Given the description of an element on the screen output the (x, y) to click on. 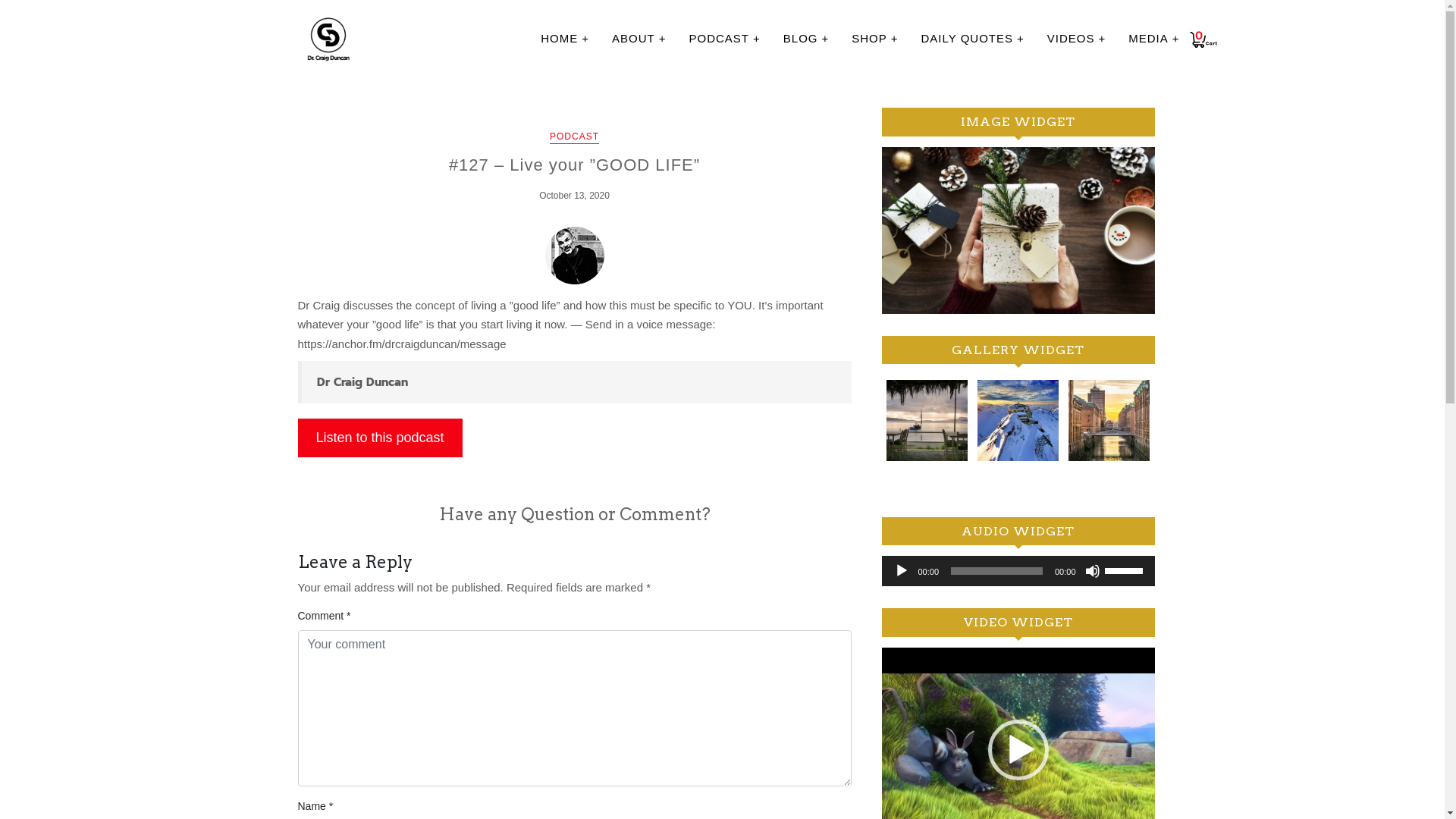
ABOUT Element type: text (638, 38)
Use Up/Down Arrow keys to increase or decrease volume. Element type: text (1125, 569)
BLOG Element type: text (805, 38)
PODCAST Element type: text (723, 38)
PODCAST Element type: text (574, 137)
Play Element type: hover (900, 570)
SHOP Element type: text (874, 38)
VIDEOS Element type: text (1076, 38)
Listen to this podcast Element type: text (379, 437)
DAILY QUOTES Element type: text (972, 38)
MEDIA Element type: text (1153, 38)
HOME Element type: text (564, 38)
Mute Element type: hover (1091, 570)
0 Element type: text (1202, 45)
